Given the description of an element on the screen output the (x, y) to click on. 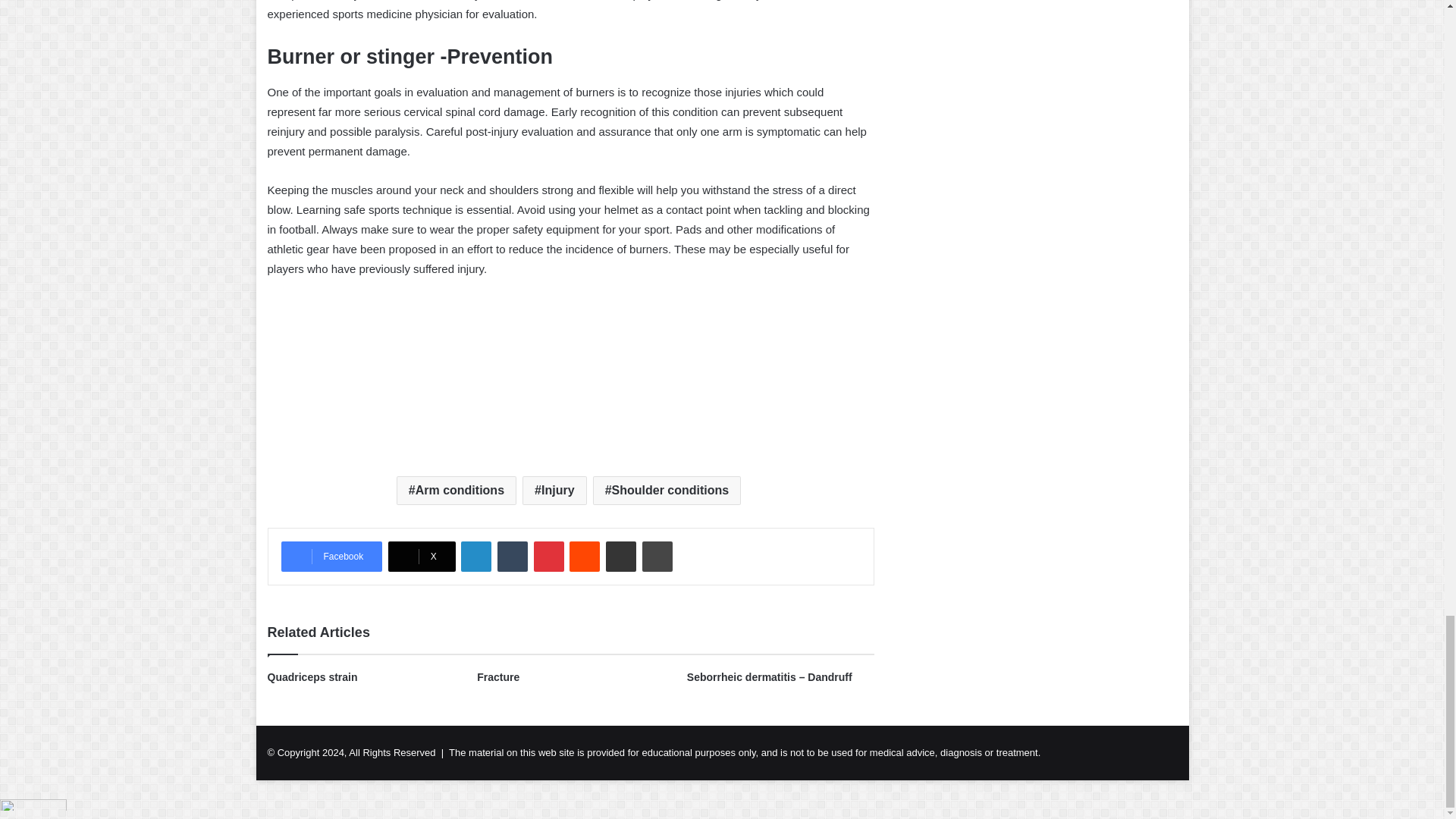
Shoulder conditions (666, 490)
Print (657, 556)
Pinterest (549, 556)
Facebook (331, 556)
Injury (554, 490)
X (421, 556)
Arm conditions (456, 490)
Facebook (331, 556)
LinkedIn (476, 556)
Tumblr (512, 556)
Share via Email (620, 556)
Reddit (584, 556)
